Given the description of an element on the screen output the (x, y) to click on. 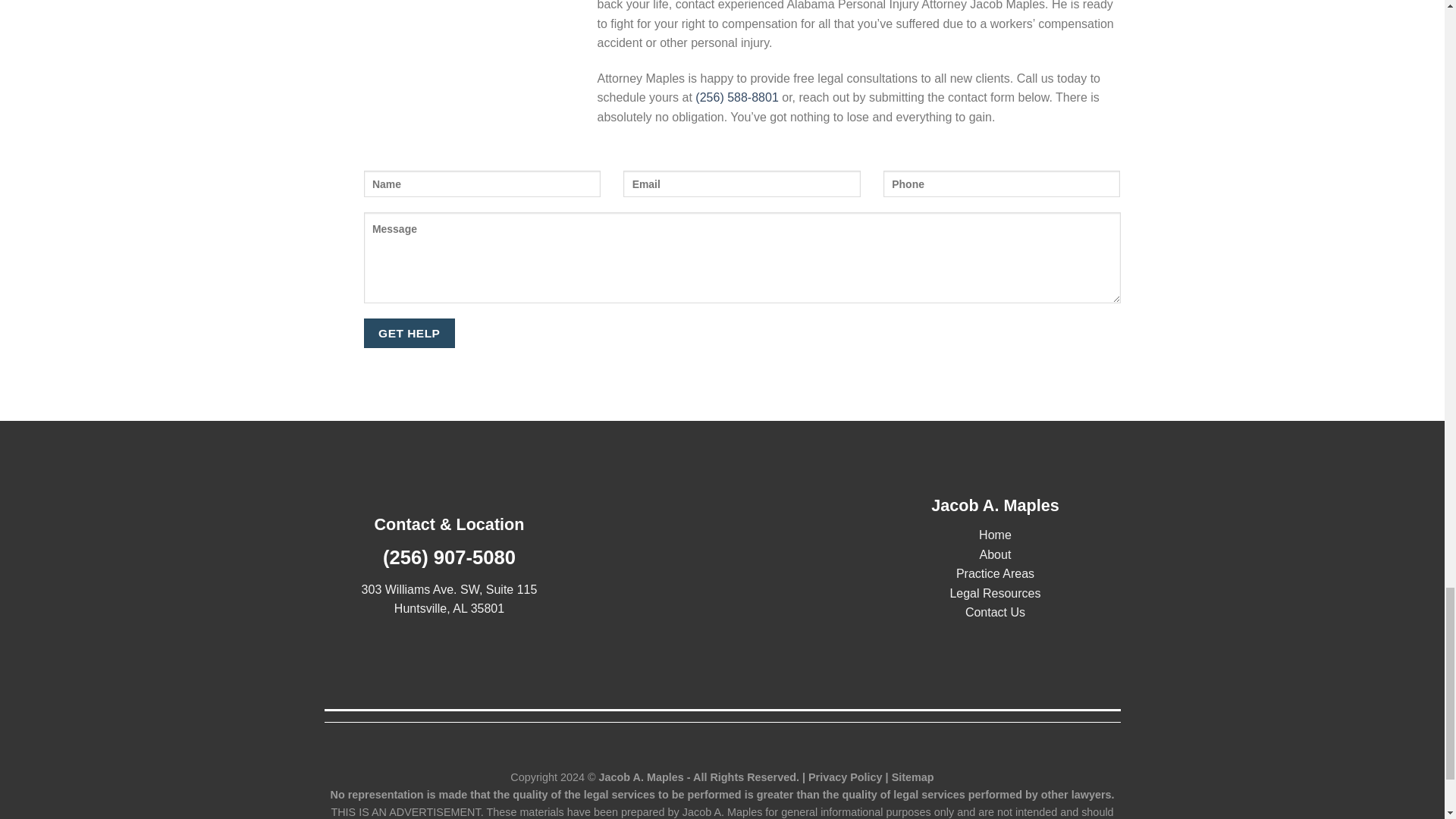
Get Help (409, 333)
